Given the description of an element on the screen output the (x, y) to click on. 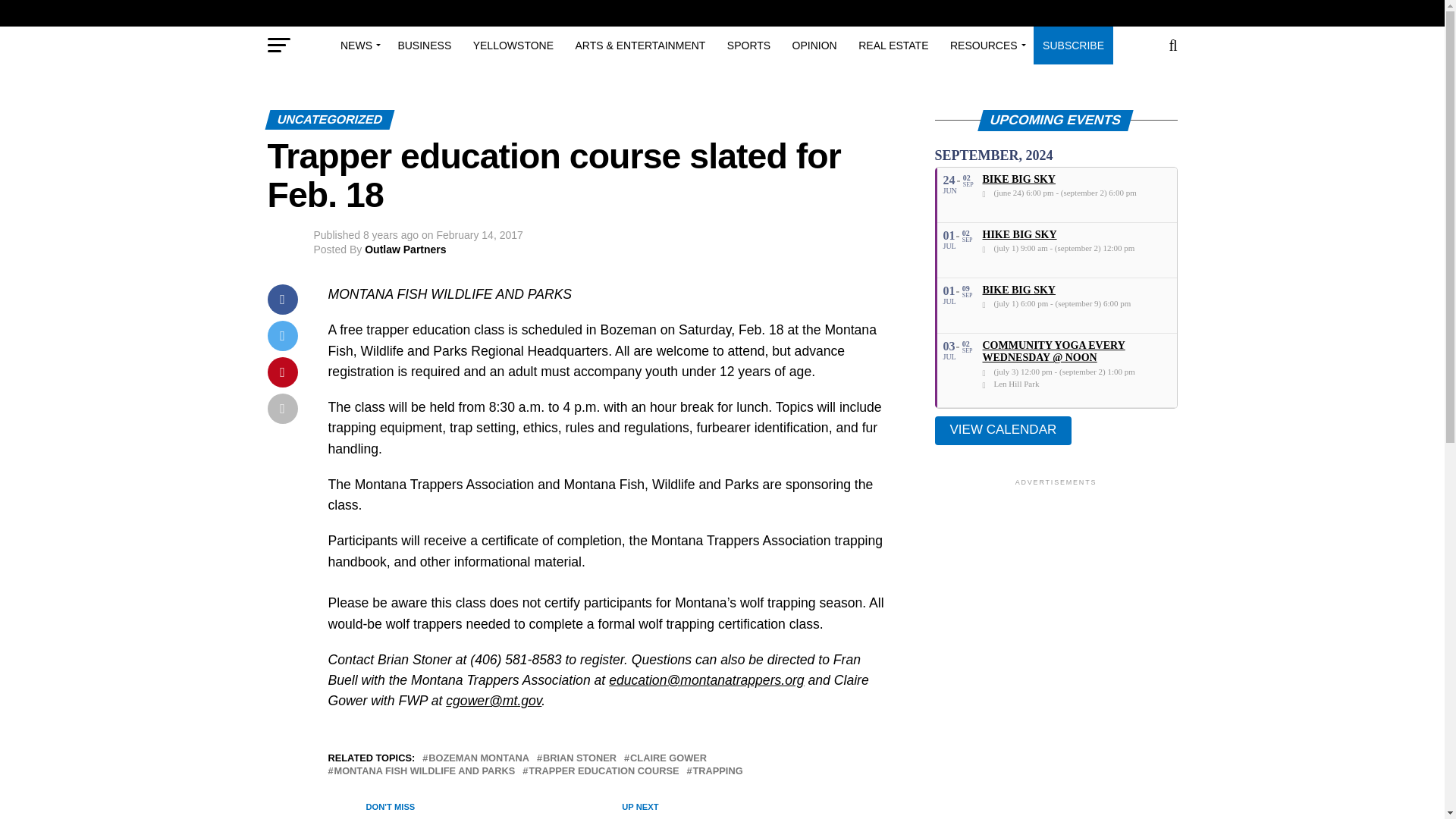
Posts by Outlaw Partners (405, 249)
RESOURCES (985, 45)
OPINION (814, 45)
REAL ESTATE (892, 45)
NEWS (358, 45)
YELLOWSTONE (513, 45)
BUSINESS (424, 45)
SPORTS (747, 45)
